Given the description of an element on the screen output the (x, y) to click on. 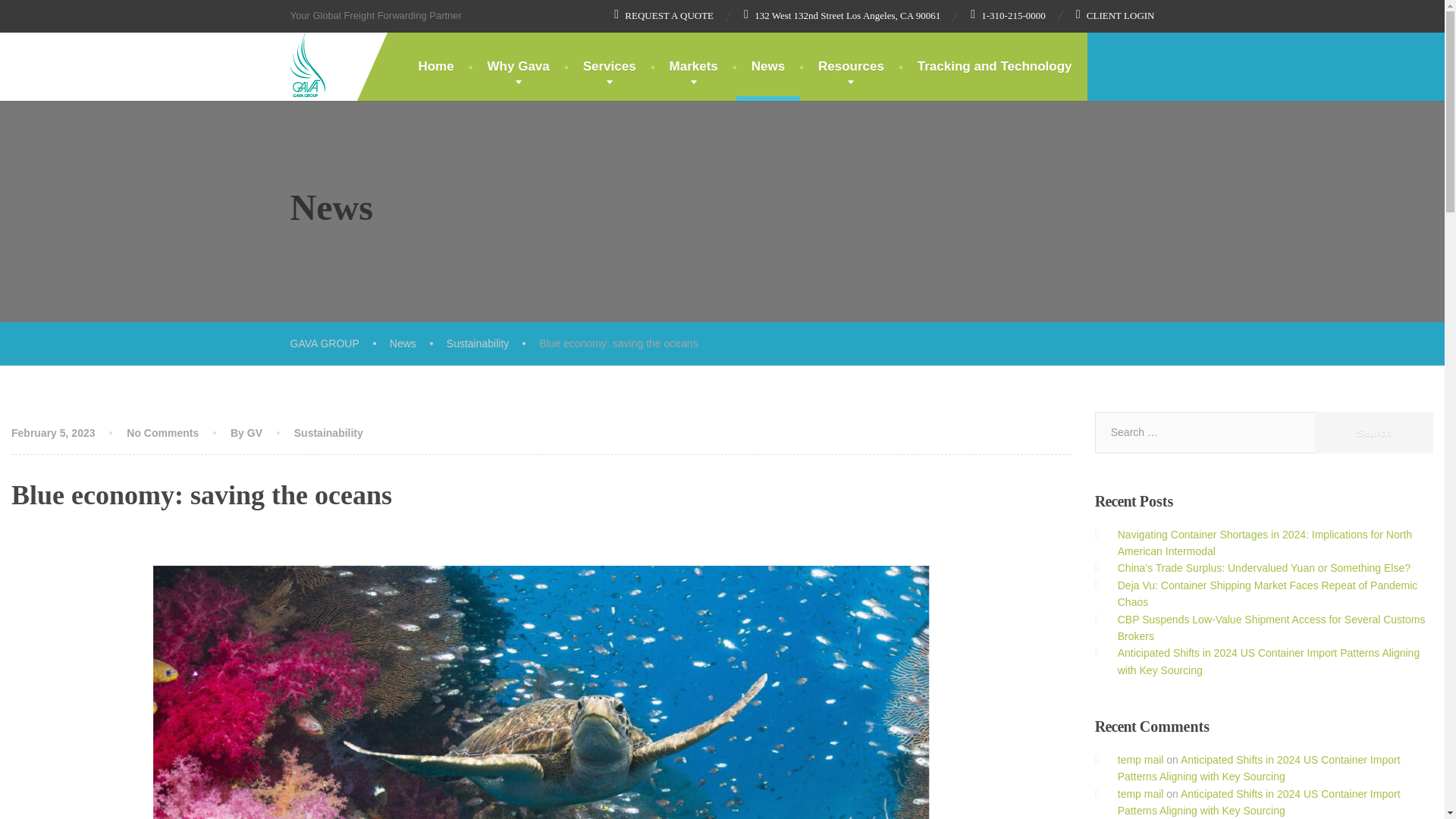
Home (435, 66)
CLIENT LOGIN (1114, 15)
Go to the Sustainability category archives. (493, 343)
Tracking and Technology (994, 66)
Search (1373, 432)
Resources (851, 66)
News (418, 343)
Go to News. (418, 343)
1-310-215-0000 (1008, 15)
No Comments (162, 432)
Sustainability (328, 432)
Search (1373, 432)
REQUEST A QUOTE (663, 15)
News (767, 66)
Services (608, 66)
